Given the description of an element on the screen output the (x, y) to click on. 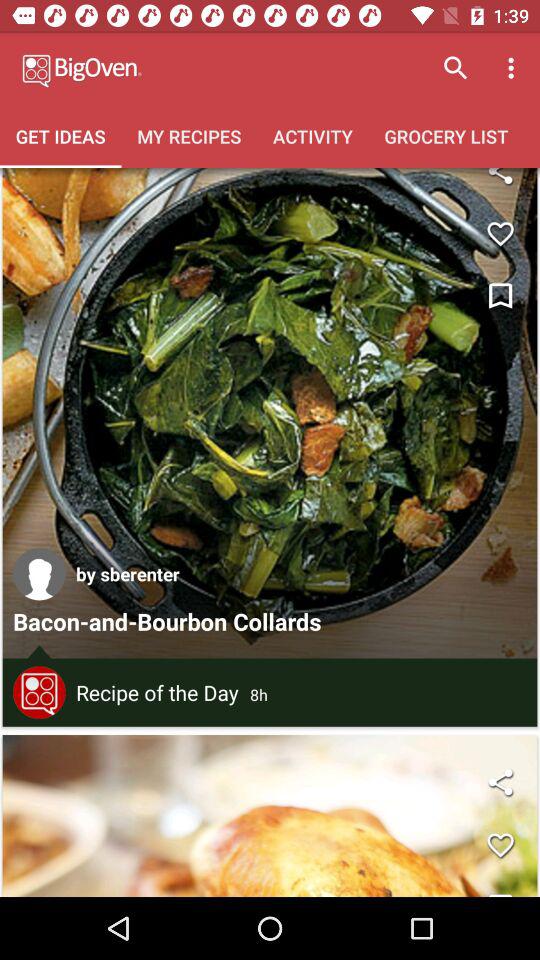
open recipe (269, 413)
